Given the description of an element on the screen output the (x, y) to click on. 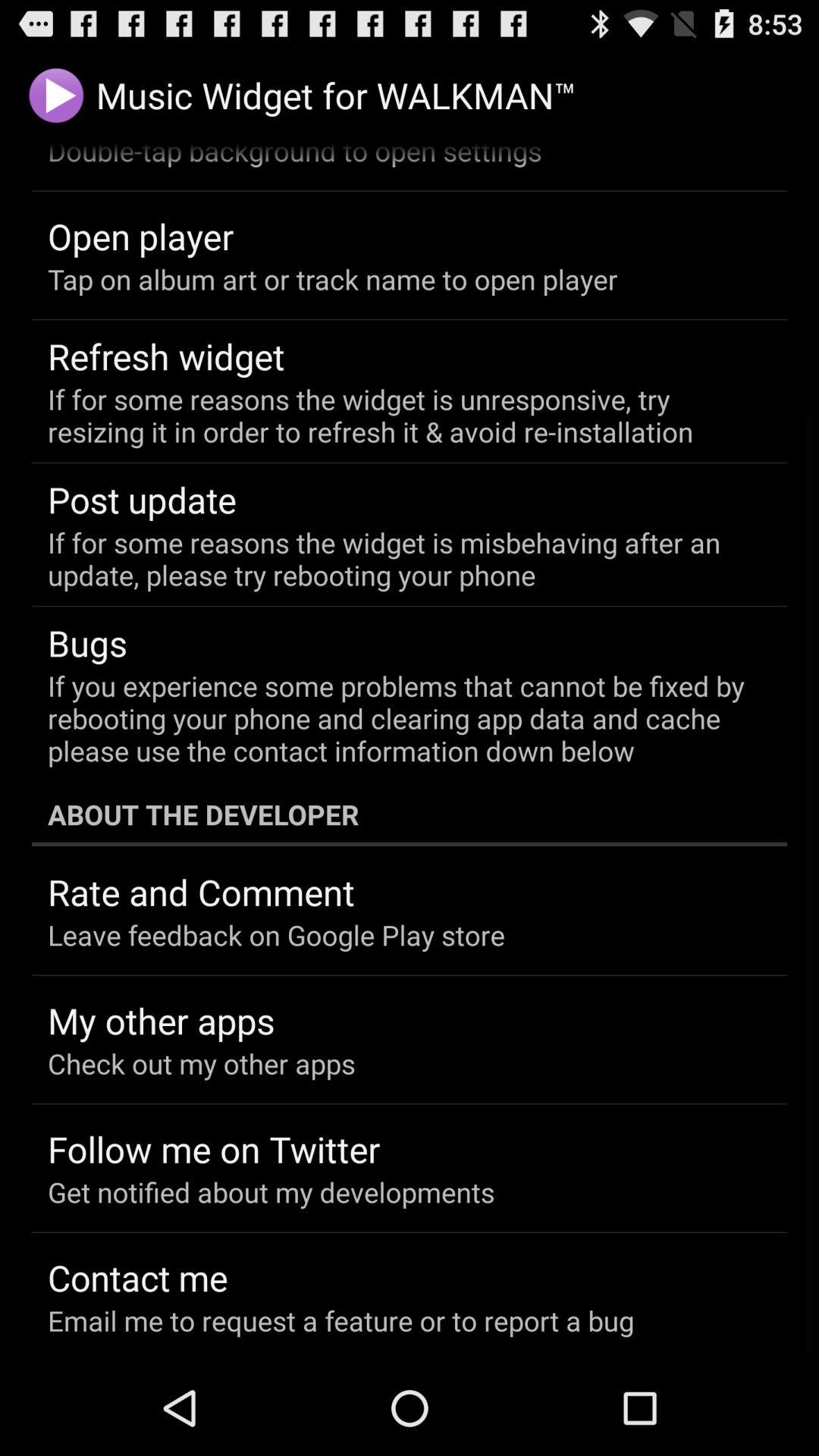
scroll to the post update icon (141, 499)
